Given the description of an element on the screen output the (x, y) to click on. 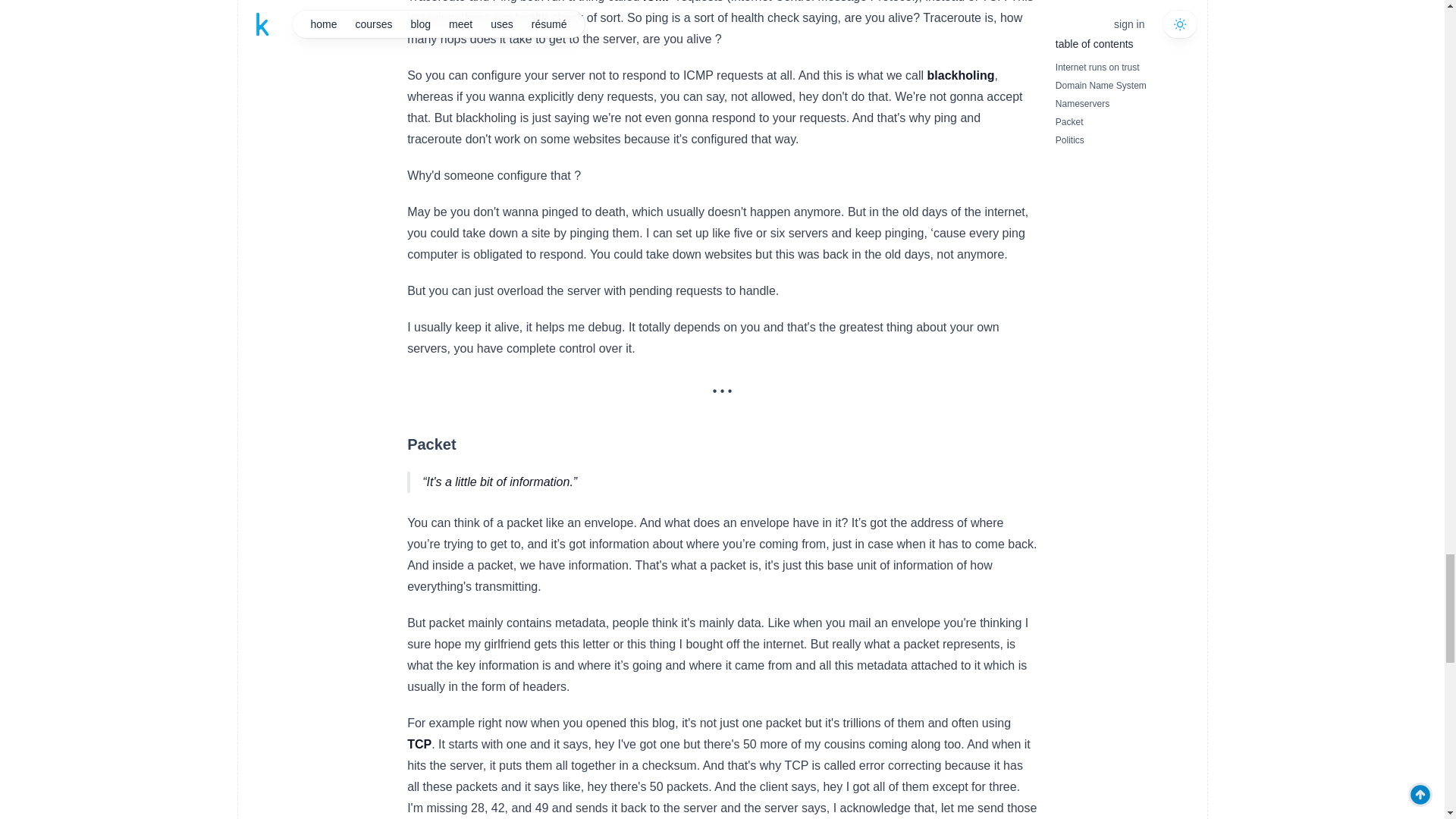
Packet (432, 443)
